Given the description of an element on the screen output the (x, y) to click on. 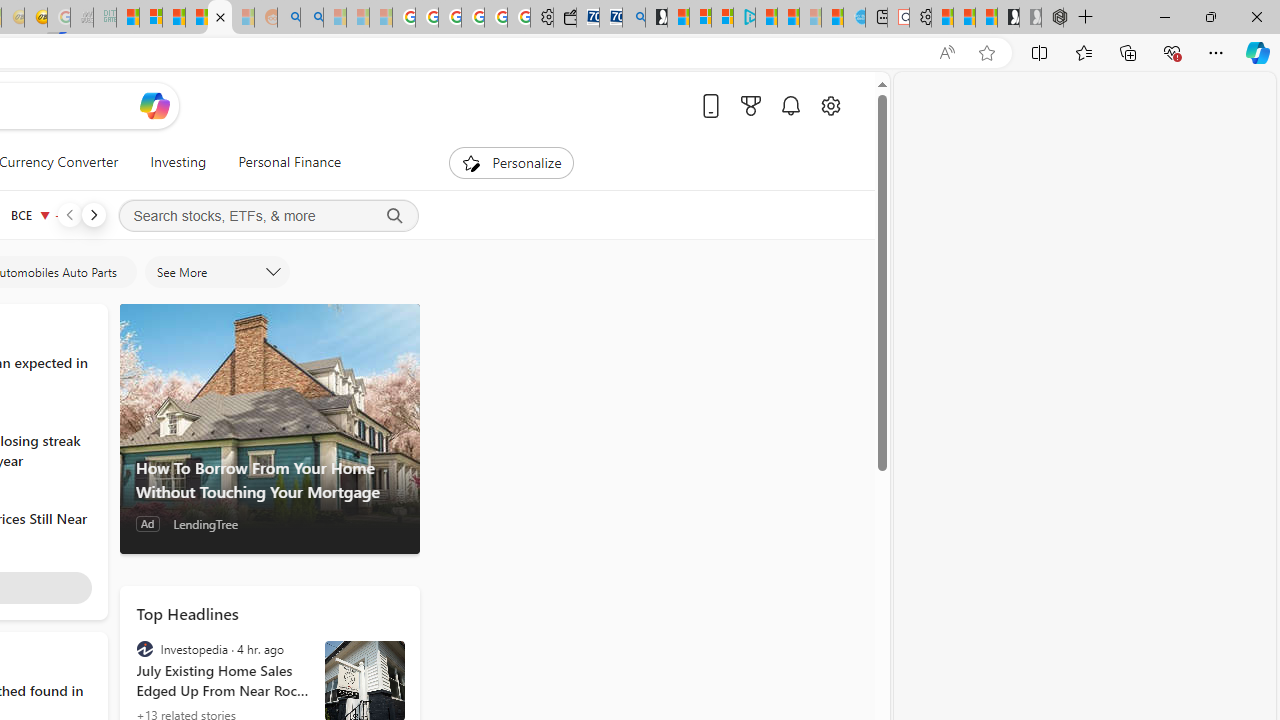
Nordace - Nordace Siena Is Not An Ordinary Backpack (1052, 17)
Navy Quest (81, 17)
Microsoft account | Privacy (722, 17)
Search stocks, ETFs, & more (267, 215)
Student Loan Update: Forgiveness Program Ends This Month (196, 17)
Microsoft Start Gaming (656, 17)
Open settings (830, 105)
Open Copilot (155, 105)
Microsoft Start - Sleeping (810, 17)
